Given the description of an element on the screen output the (x, y) to click on. 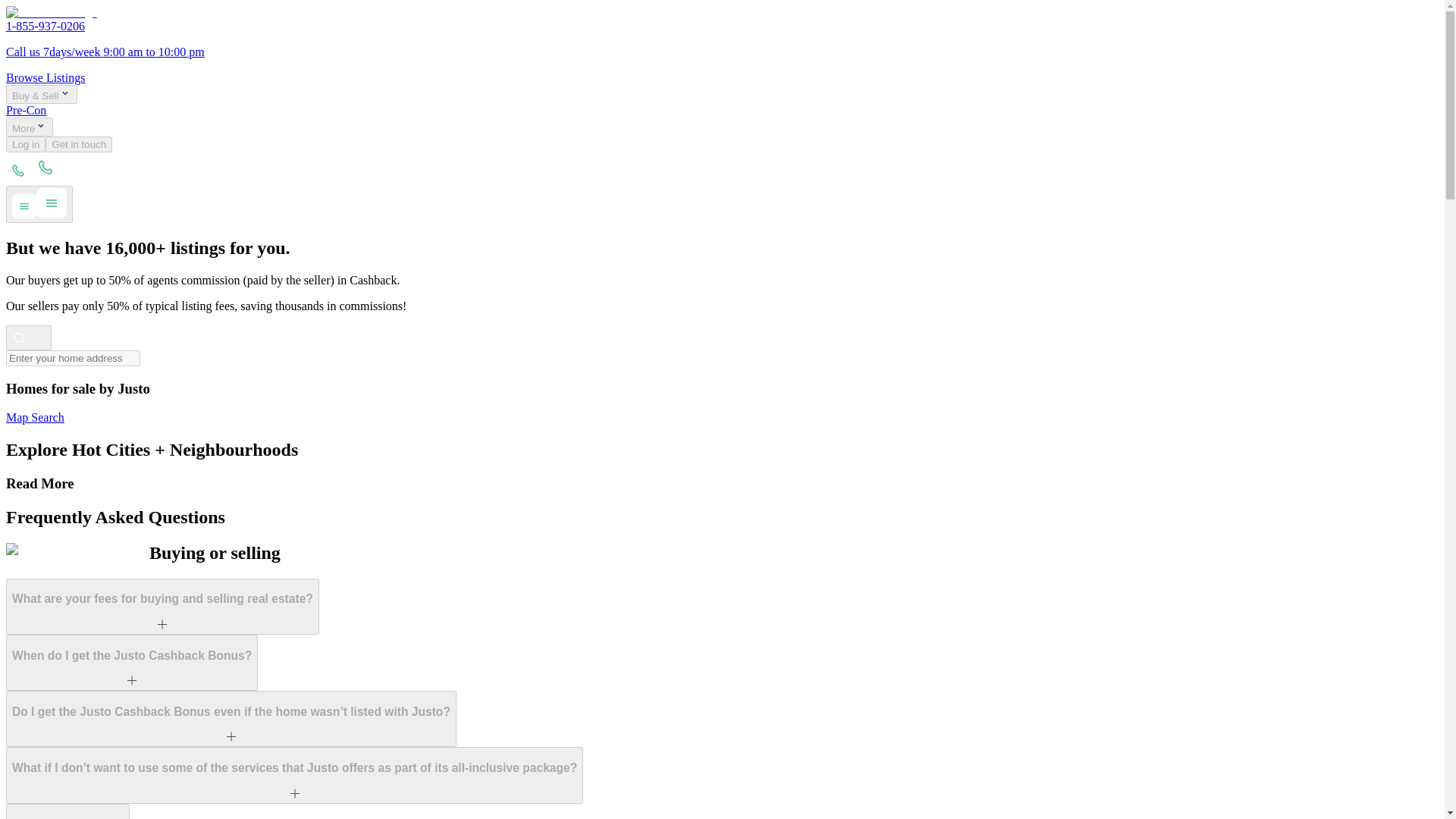
Map Search (34, 417)
When do I get the Justo Cashback Bonus? (131, 662)
Pre-Con (25, 110)
Browse Listings (44, 77)
What are your fees for buying and selling real estate? (161, 606)
Log in (25, 144)
Get in touch (78, 144)
More (28, 126)
Why choose Justo? (67, 811)
